Given the description of an element on the screen output the (x, y) to click on. 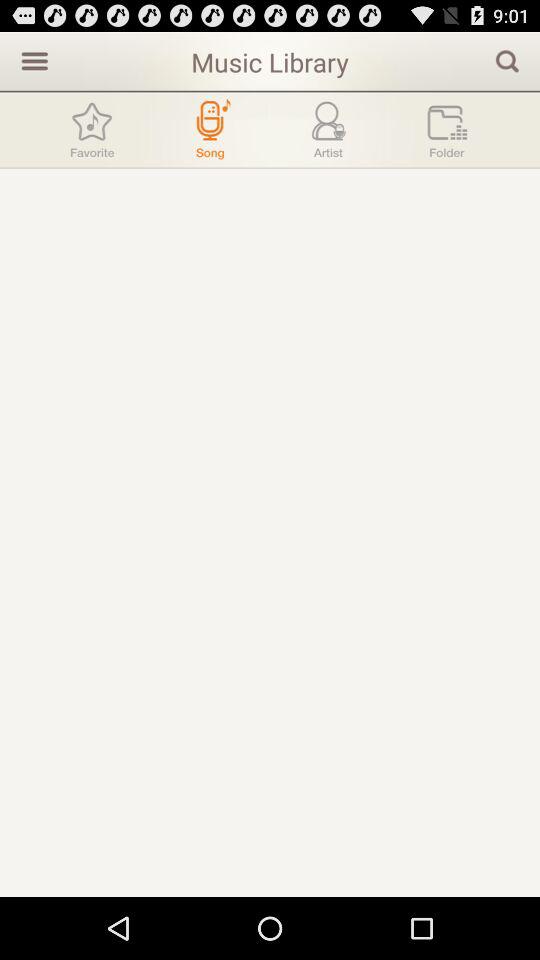
view song library (210, 129)
